Given the description of an element on the screen output the (x, y) to click on. 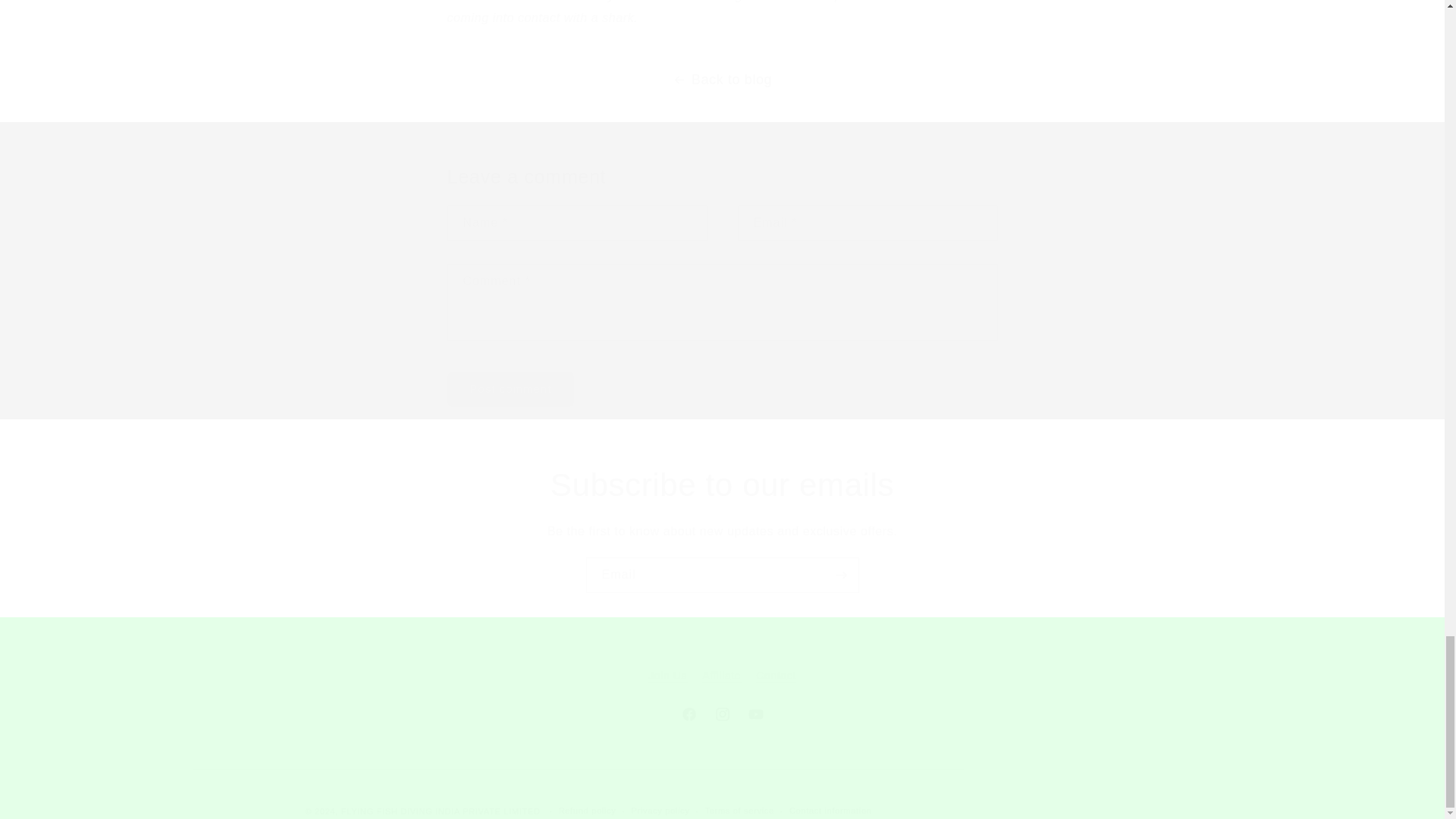
Post comment (510, 389)
Affiliate (721, 714)
Be the first to know about new updates and exclusive offers. (721, 675)
Post comment (722, 531)
Join Us Affiliate Contact (510, 389)
Join Us (721, 675)
Subscribe to our emails (667, 677)
Join Us Affiliate Contact (721, 485)
Email (721, 660)
Contact (722, 574)
